Given the description of an element on the screen output the (x, y) to click on. 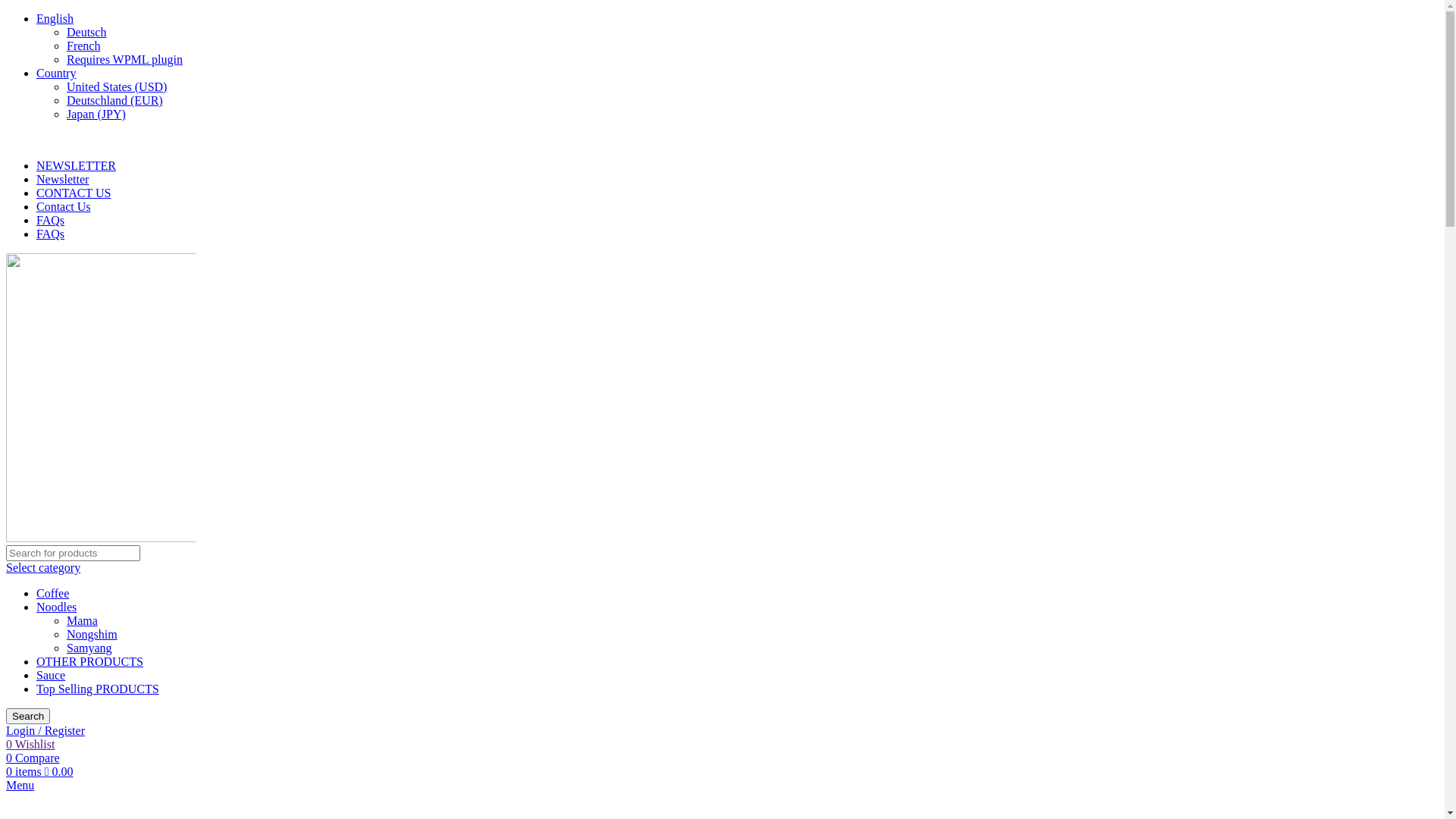
United States (USD) Element type: text (116, 86)
FAQs Element type: text (50, 233)
French Element type: text (83, 45)
English Element type: text (54, 18)
Deutsch Element type: text (86, 31)
Requires WPML plugin Element type: text (124, 59)
Japan (JPY) Element type: text (95, 113)
Deutschland (EUR) Element type: text (114, 100)
Search for products Element type: hover (73, 553)
Contact Us Element type: text (63, 206)
FAQs Element type: text (50, 219)
Search Element type: text (28, 716)
NEWSLETTER Element type: text (76, 165)
Menu Element type: text (20, 784)
Sauce Element type: text (50, 674)
Coffee Element type: text (52, 592)
Top Selling PRODUCTS Element type: text (97, 688)
Country Element type: text (55, 72)
Samyang Element type: text (89, 647)
Nongshim Element type: text (91, 633)
Login / Register Element type: text (45, 730)
Newsletter Element type: text (62, 178)
0 Compare Element type: text (32, 757)
OTHER PRODUCTS Element type: text (89, 661)
CONTACT US Element type: text (73, 192)
Select category Element type: text (43, 567)
Mama Element type: text (81, 620)
Noodles Element type: text (56, 606)
0 Wishlist Element type: text (30, 743)
